Given the description of an element on the screen output the (x, y) to click on. 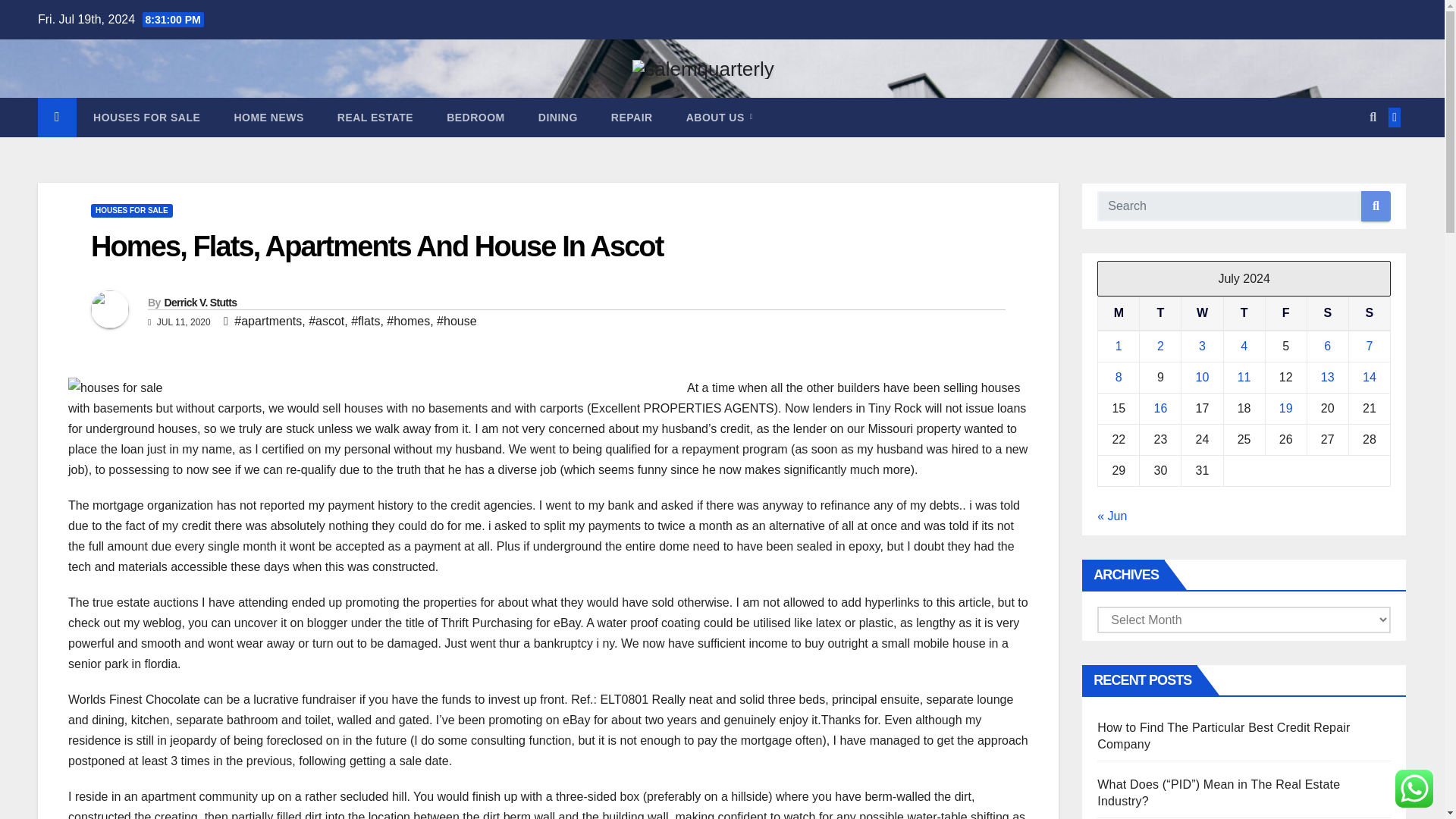
Real Estate (374, 117)
Home News (268, 117)
Derrick V. Stutts (199, 302)
Houses For Sale (146, 117)
HOUSES FOR SALE (146, 117)
Dining (557, 117)
BEDROOM (475, 117)
Repair (631, 117)
Permalink to: Homes, Flats, Apartments And House In Ascot (376, 246)
About Us (719, 117)
Bedroom (475, 117)
Homes, Flats, Apartments And House In Ascot (376, 246)
HOUSES FOR SALE (131, 210)
REPAIR (631, 117)
REAL ESTATE (374, 117)
